Given the description of an element on the screen output the (x, y) to click on. 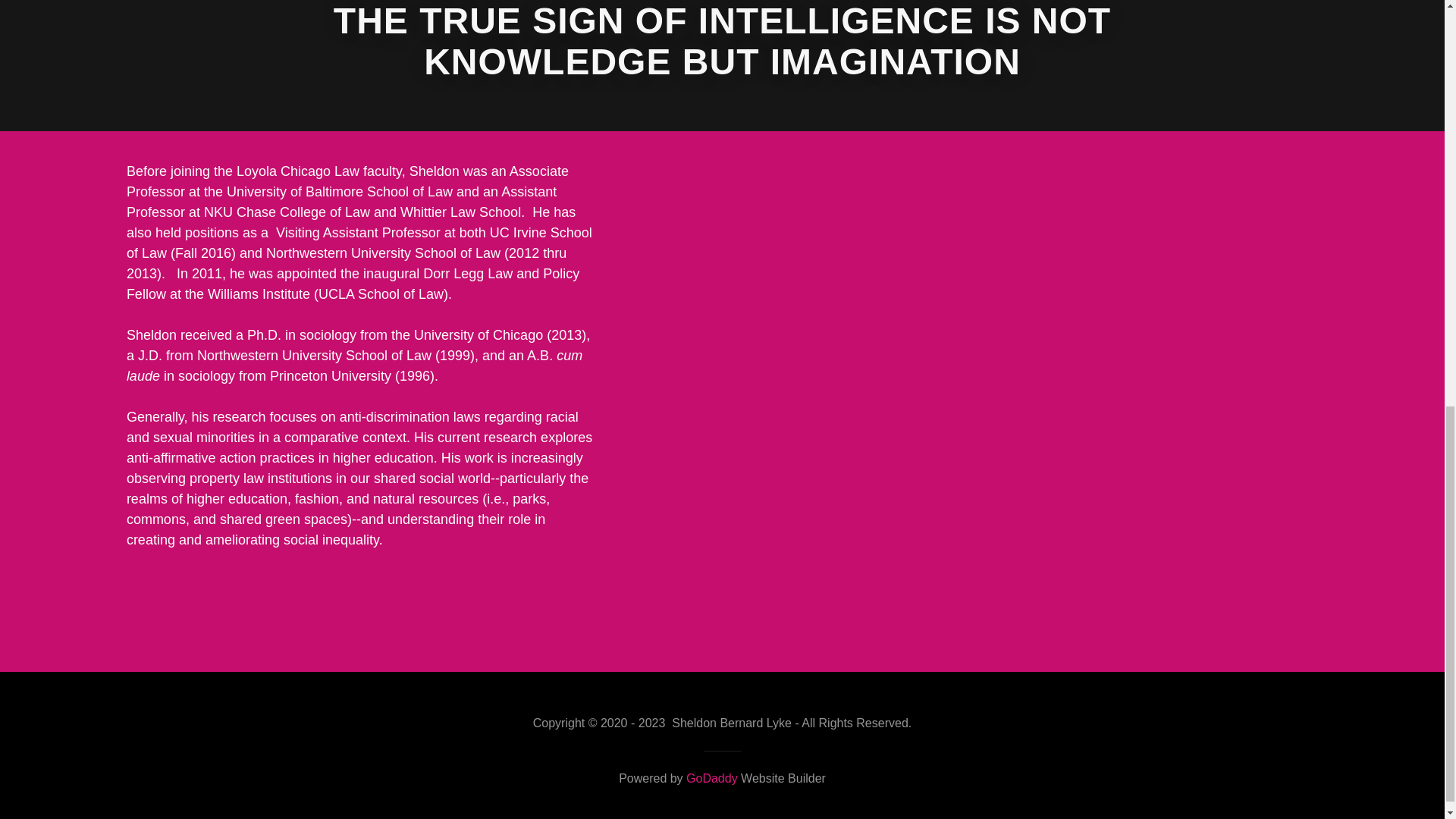
GoDaddy (711, 778)
